Given the description of an element on the screen output the (x, y) to click on. 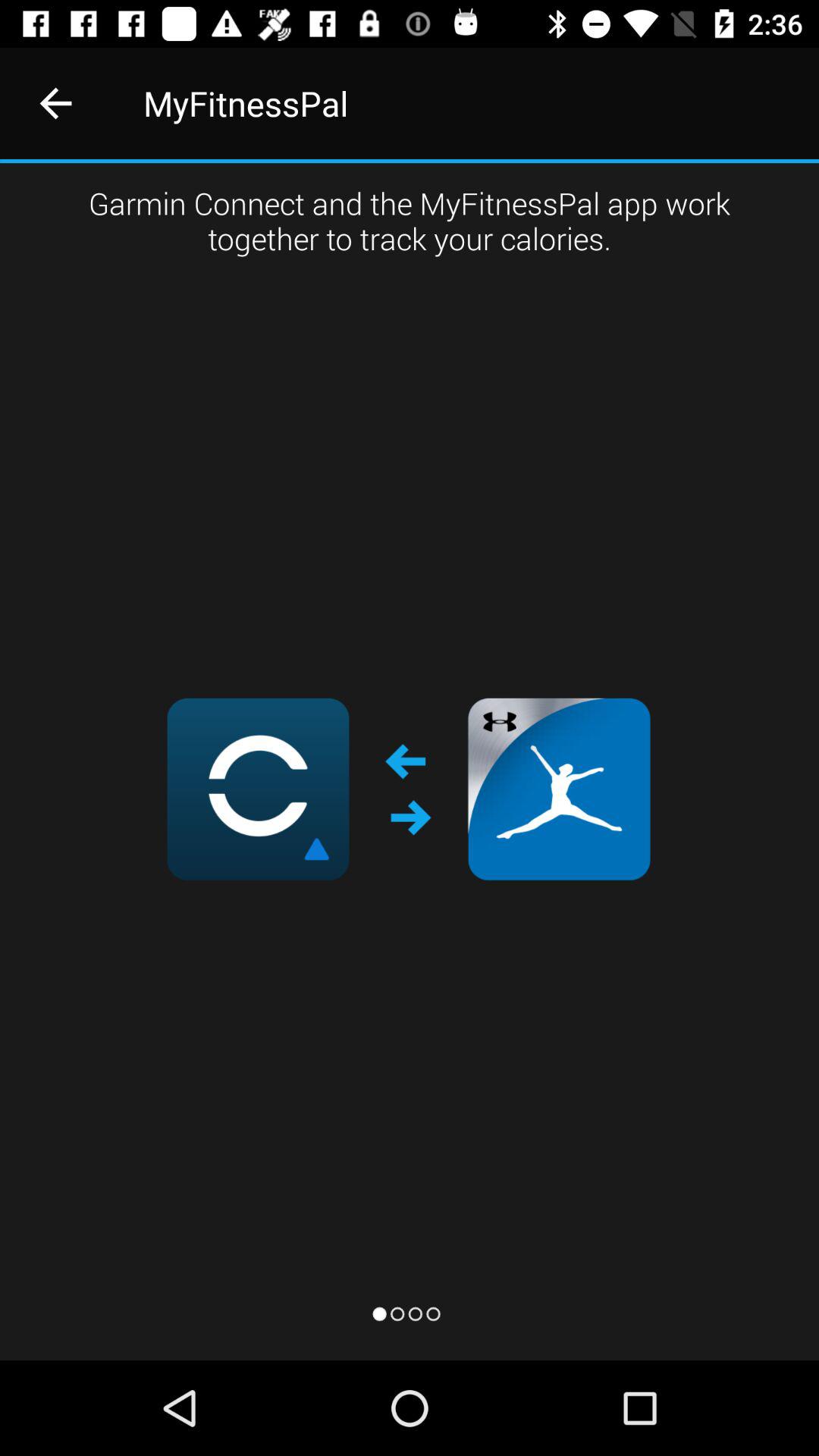
turn off icon to the left of myfitnesspal (55, 103)
